Given the description of an element on the screen output the (x, y) to click on. 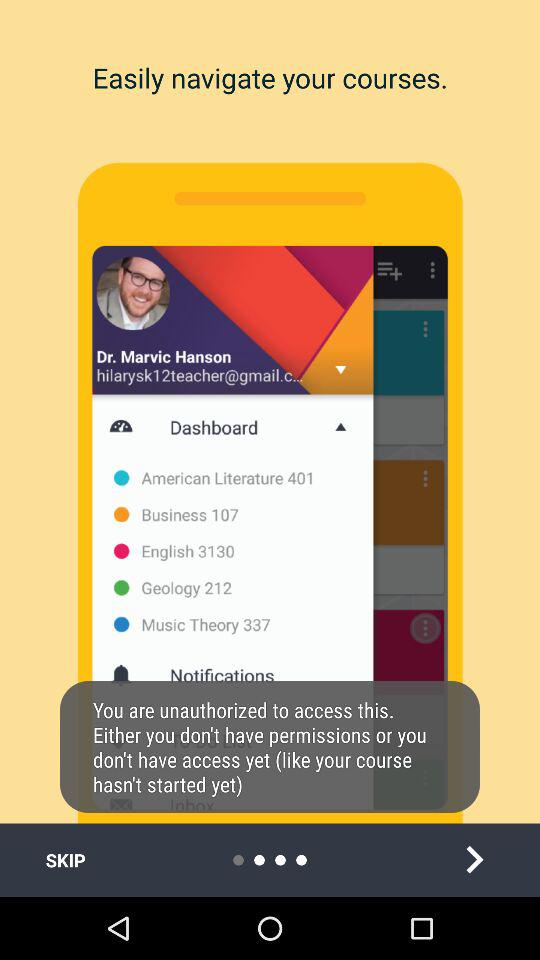
click to move on (474, 860)
